Given the description of an element on the screen output the (x, y) to click on. 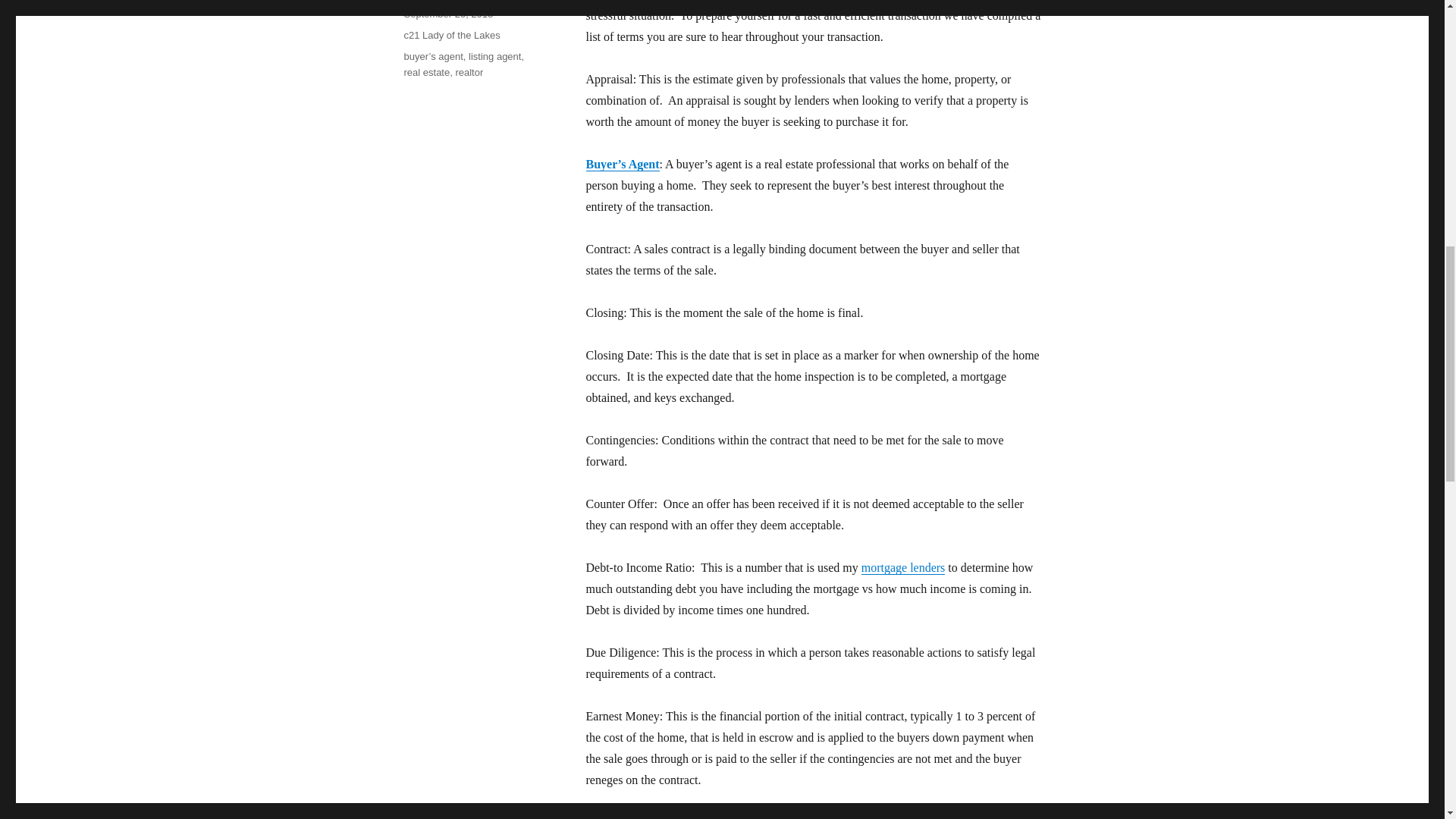
listing agent (494, 56)
realtor (468, 71)
real estate (426, 71)
September 20, 2018 (448, 13)
c21 Lady of the Lakes (451, 34)
mortgage lenders (902, 567)
